Given the description of an element on the screen output the (x, y) to click on. 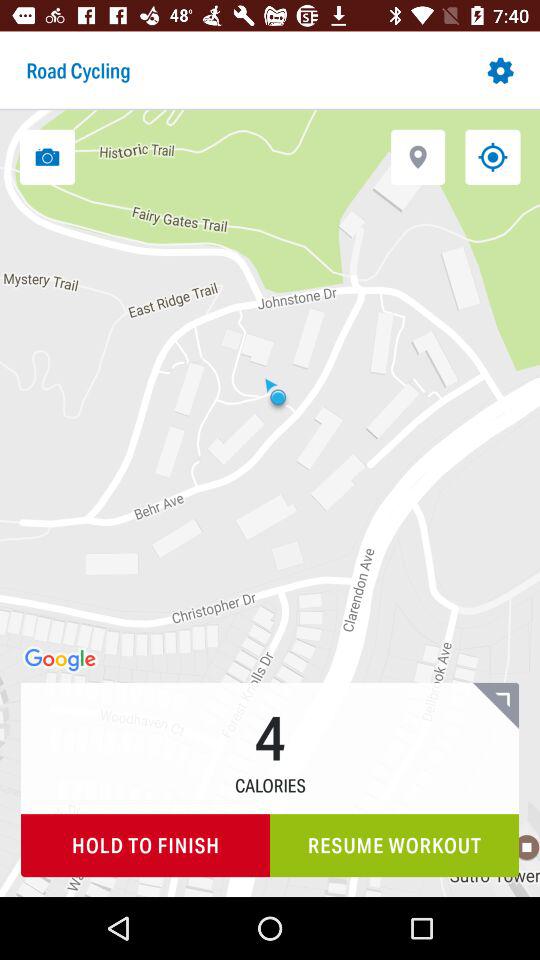
select the icon next to the hold to finish icon (394, 845)
